Given the description of an element on the screen output the (x, y) to click on. 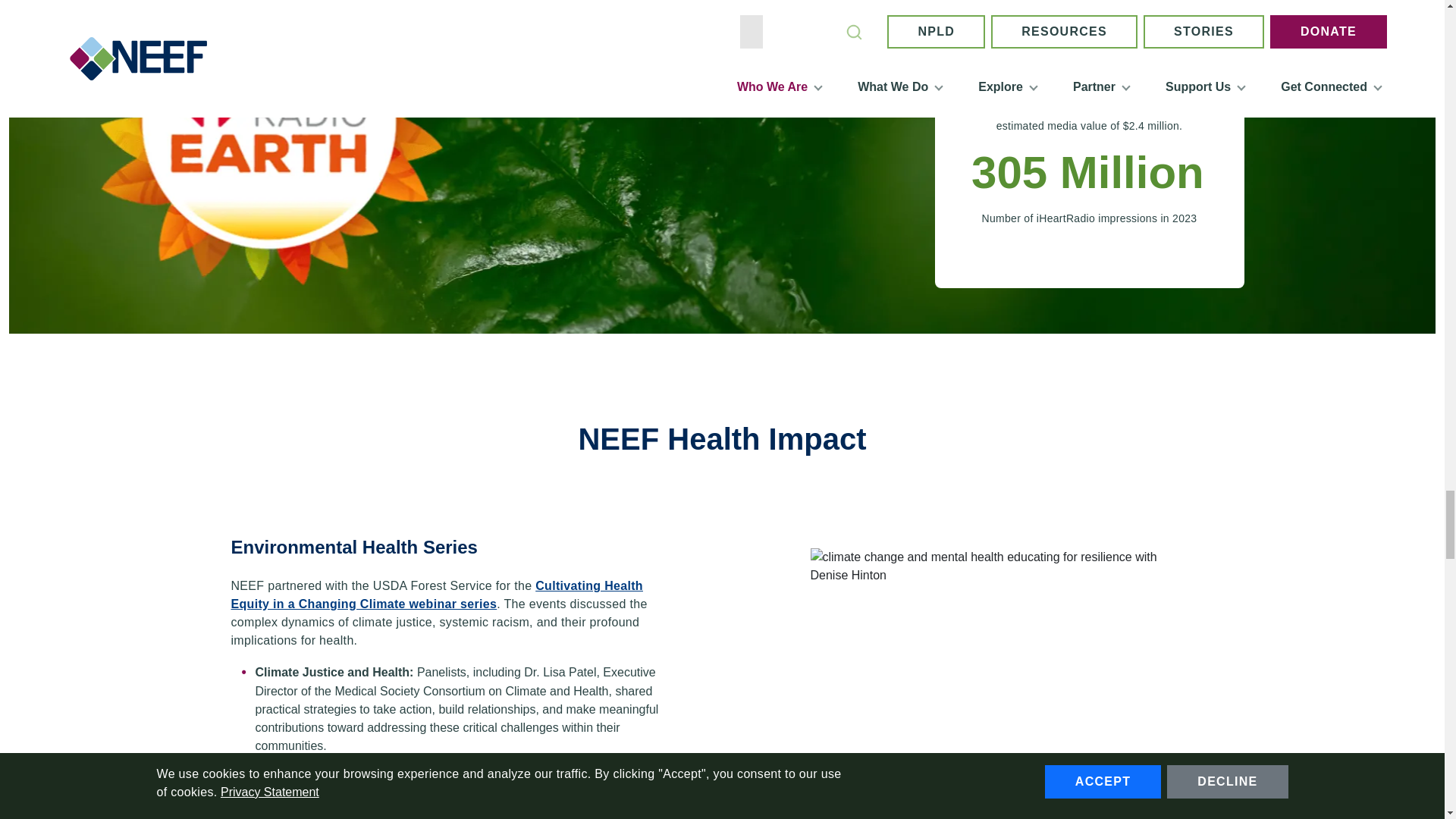
iHeart Radio Earth (994, 109)
